Given the description of an element on the screen output the (x, y) to click on. 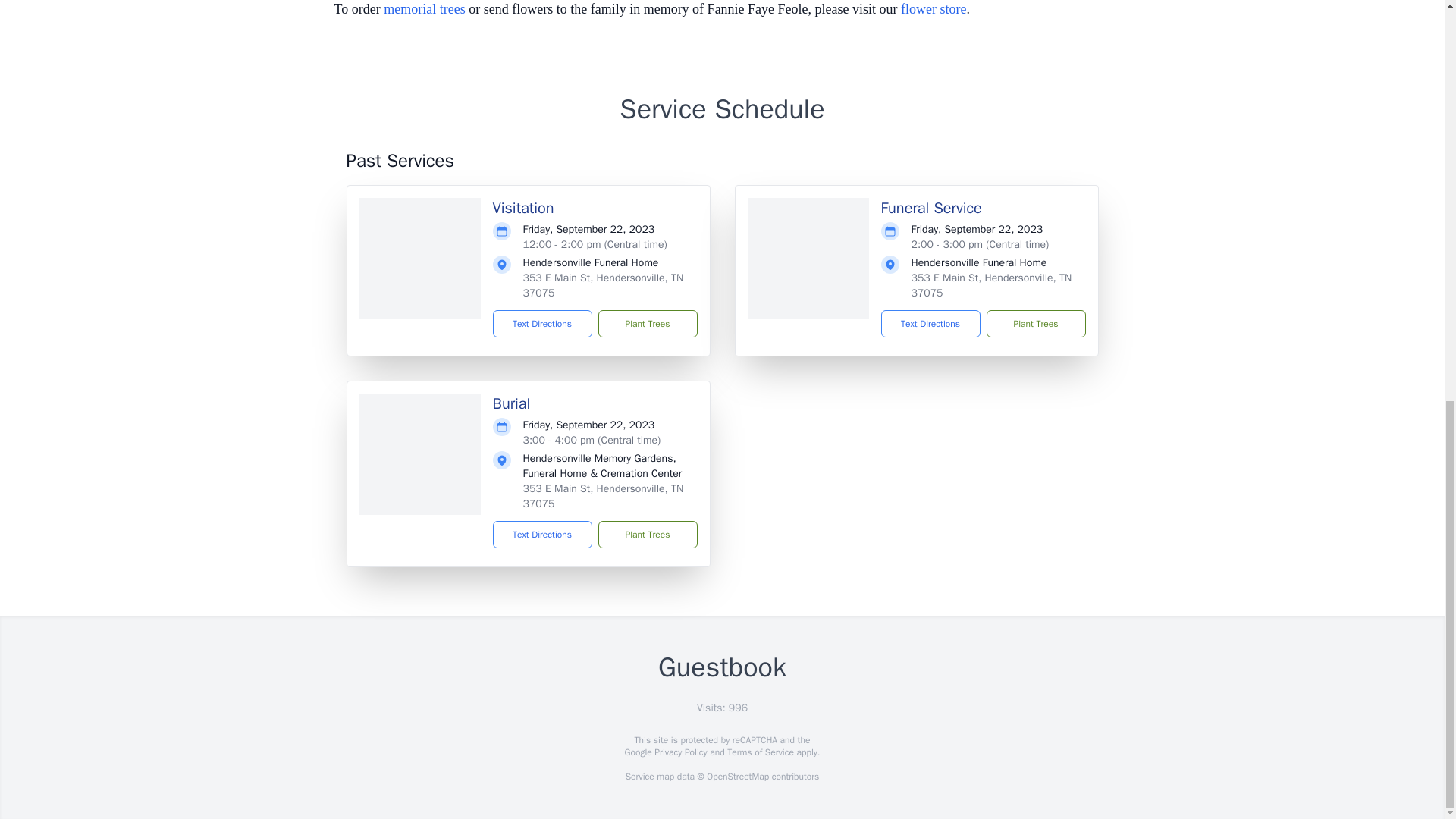
353 E Main St, Hendersonville, TN 37075 (603, 285)
Plant Trees (646, 323)
353 E Main St, Hendersonville, TN 37075 (991, 285)
OpenStreetMap (737, 776)
memorial trees (424, 8)
Plant Trees (1034, 323)
Terms of Service (759, 752)
Plant Trees (646, 533)
Text Directions (542, 533)
Text Directions (929, 323)
